Given the description of an element on the screen output the (x, y) to click on. 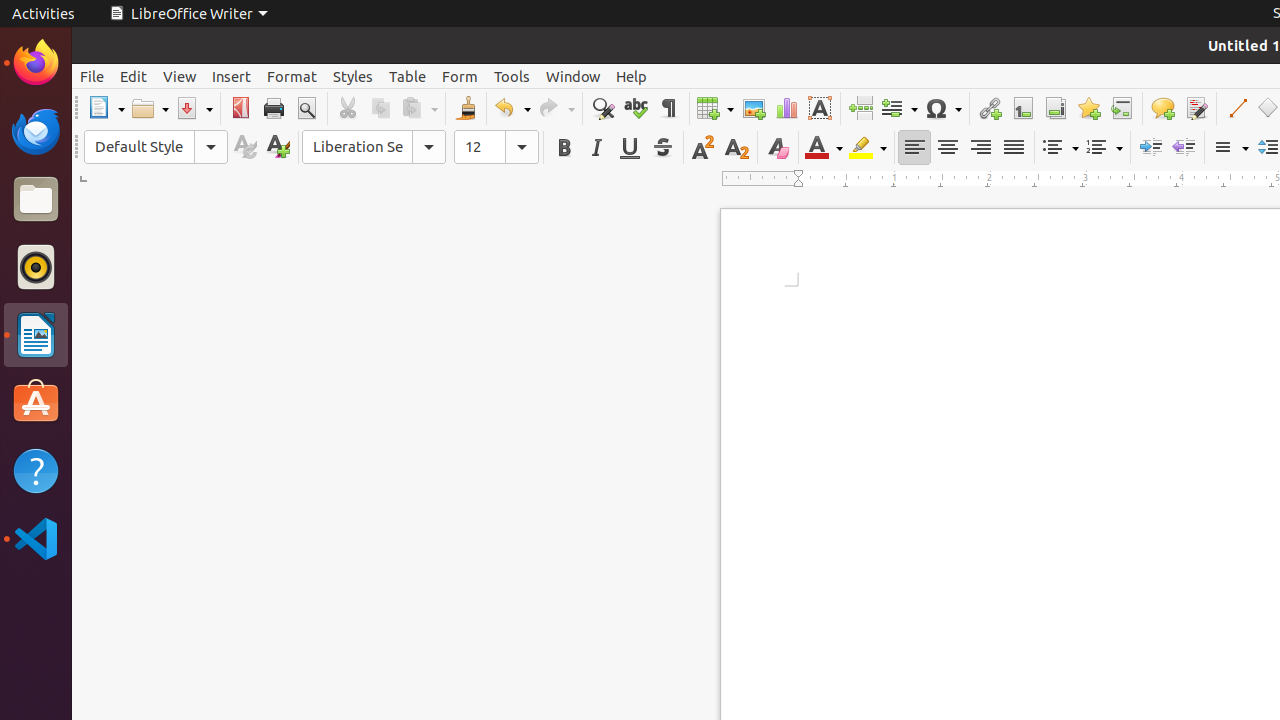
Formatting Marks Element type: toggle-button (668, 108)
Rhythmbox Element type: push-button (36, 267)
Chart Element type: push-button (786, 108)
Undo Element type: push-button (512, 108)
Spelling Element type: push-button (635, 108)
